Given the description of an element on the screen output the (x, y) to click on. 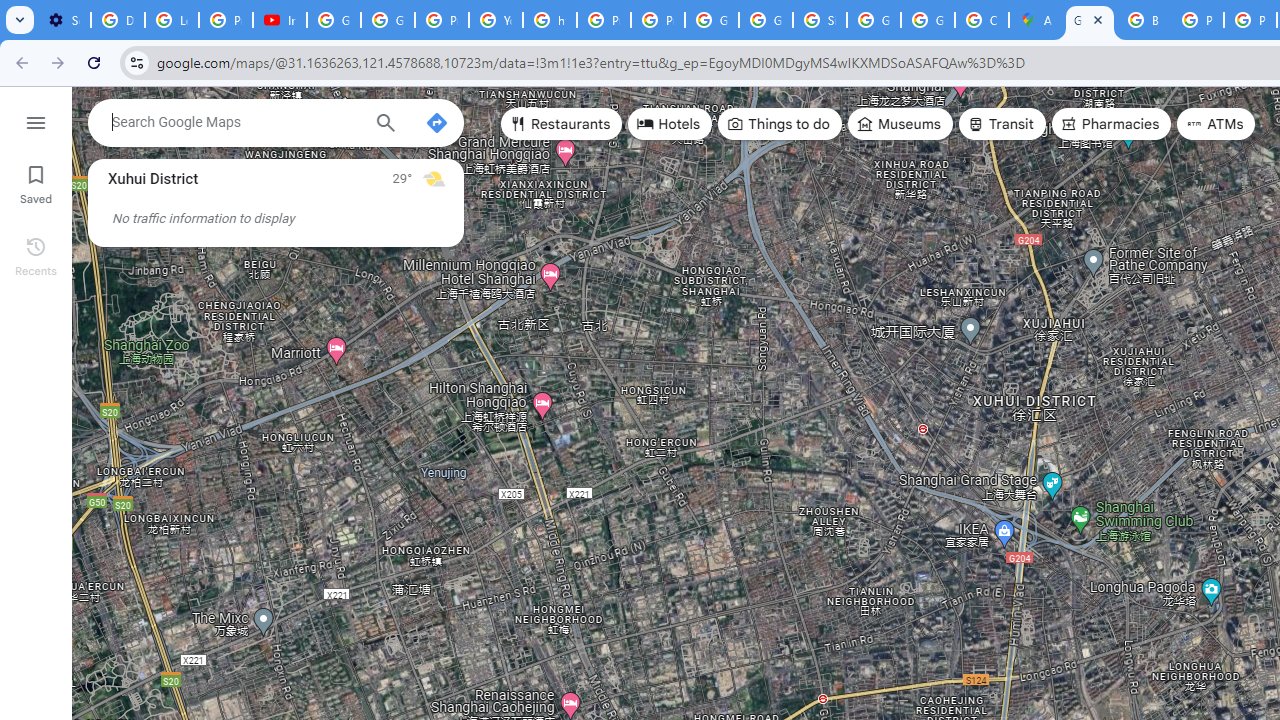
Directions (436, 122)
Saved (35, 182)
Museums (900, 124)
Delete photos & videos - Computer - Google Photos Help (117, 20)
Search Google Maps (235, 121)
Privacy Help Center - Policies Help (604, 20)
Restaurants (561, 124)
ATMs (1216, 124)
Transit (1001, 124)
